Given the description of an element on the screen output the (x, y) to click on. 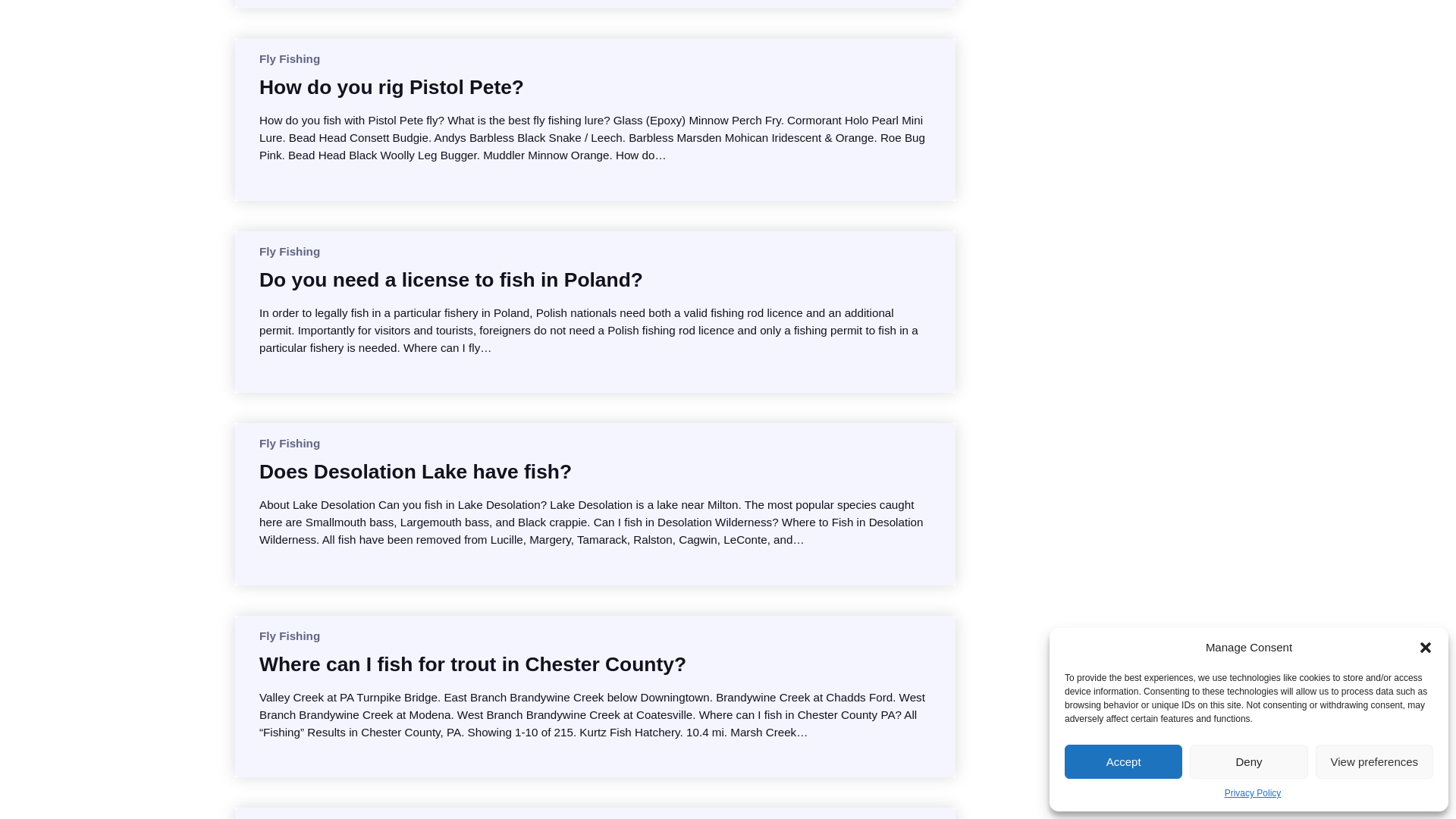
Does Desolation Lake have fish? (415, 471)
How do you rig Pistol Pete? (391, 86)
Fly Fishing (289, 442)
Fly Fishing (289, 58)
Do you need a license to fish in Poland? (451, 279)
Fly Fishing (289, 250)
